Given the description of an element on the screen output the (x, y) to click on. 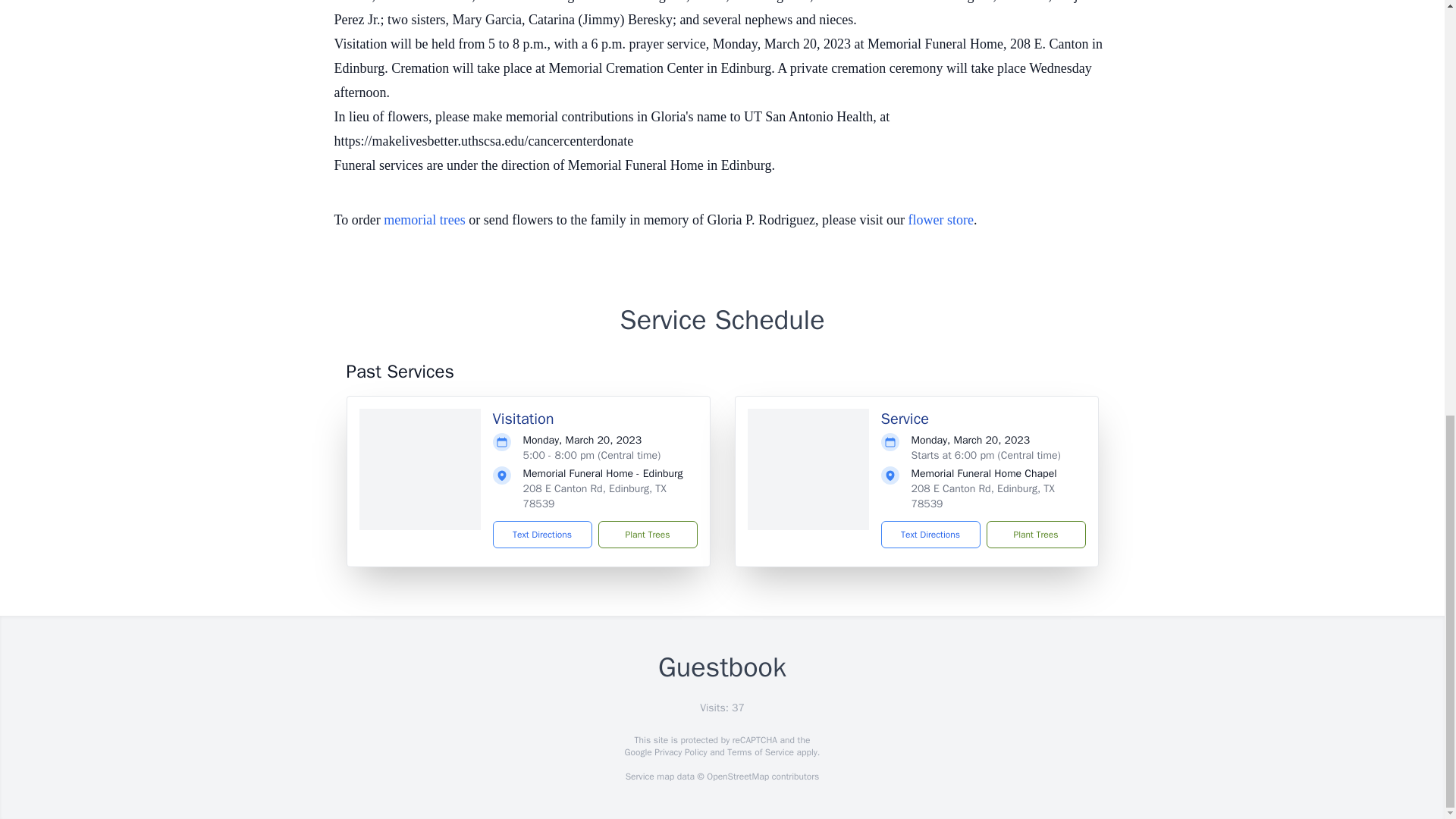
Terms of Service (759, 752)
Plant Trees (1034, 533)
flower store (941, 219)
Privacy Policy (679, 752)
memorial trees (424, 219)
OpenStreetMap (737, 776)
Text Directions (542, 533)
Plant Trees (646, 533)
208 E Canton Rd, Edinburg, TX 78539 (594, 496)
Text Directions (929, 533)
